Given the description of an element on the screen output the (x, y) to click on. 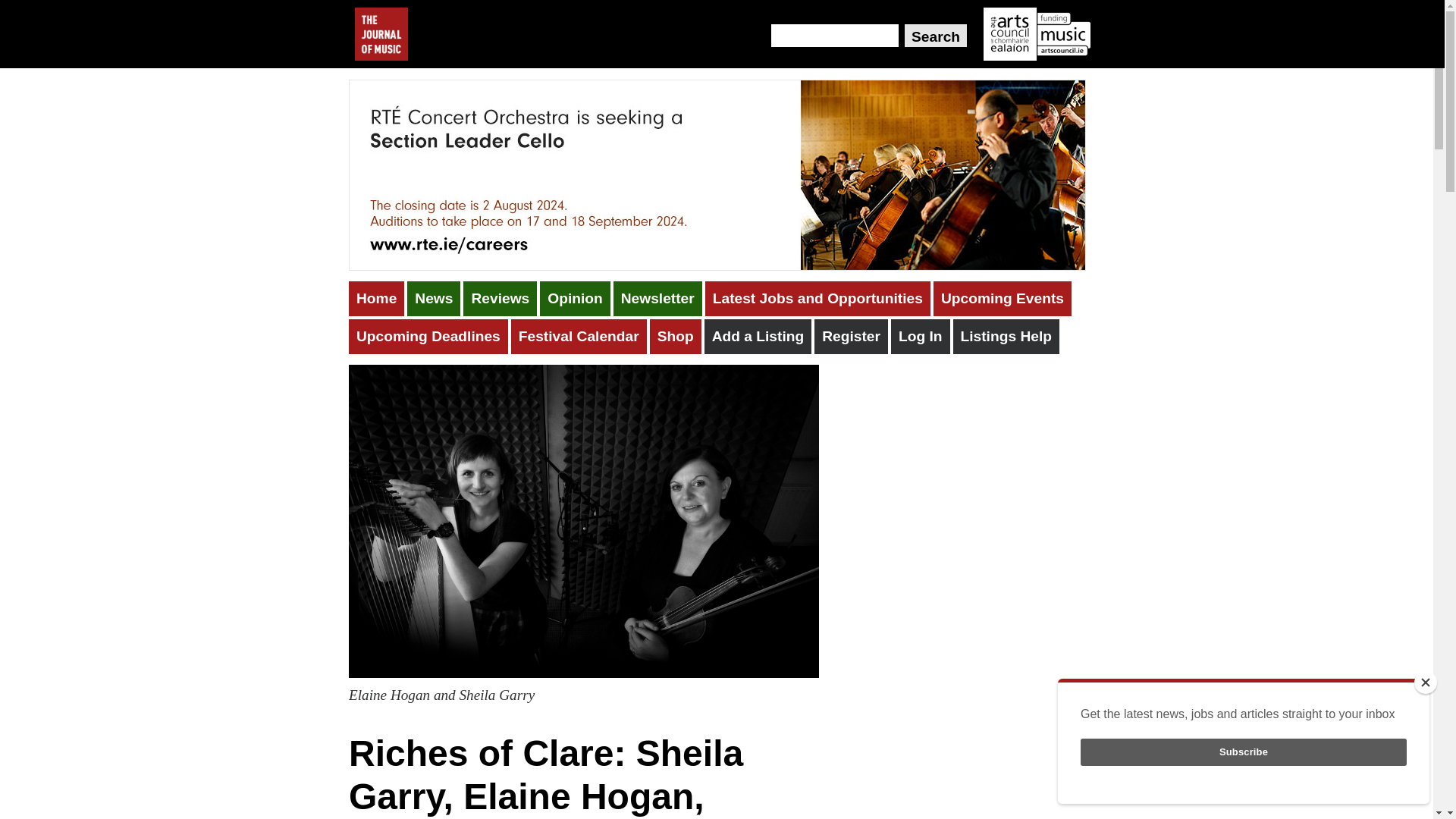
Upcoming Deadlines (428, 336)
Newsletter (656, 298)
Opinion (575, 298)
Latest Jobs and Opportunities (817, 298)
Enter the terms you wish to search for. (834, 35)
Reviews (500, 298)
News (433, 298)
Upcoming Events (1002, 298)
Search (935, 35)
Home (376, 298)
Search (935, 35)
